Given the description of an element on the screen output the (x, y) to click on. 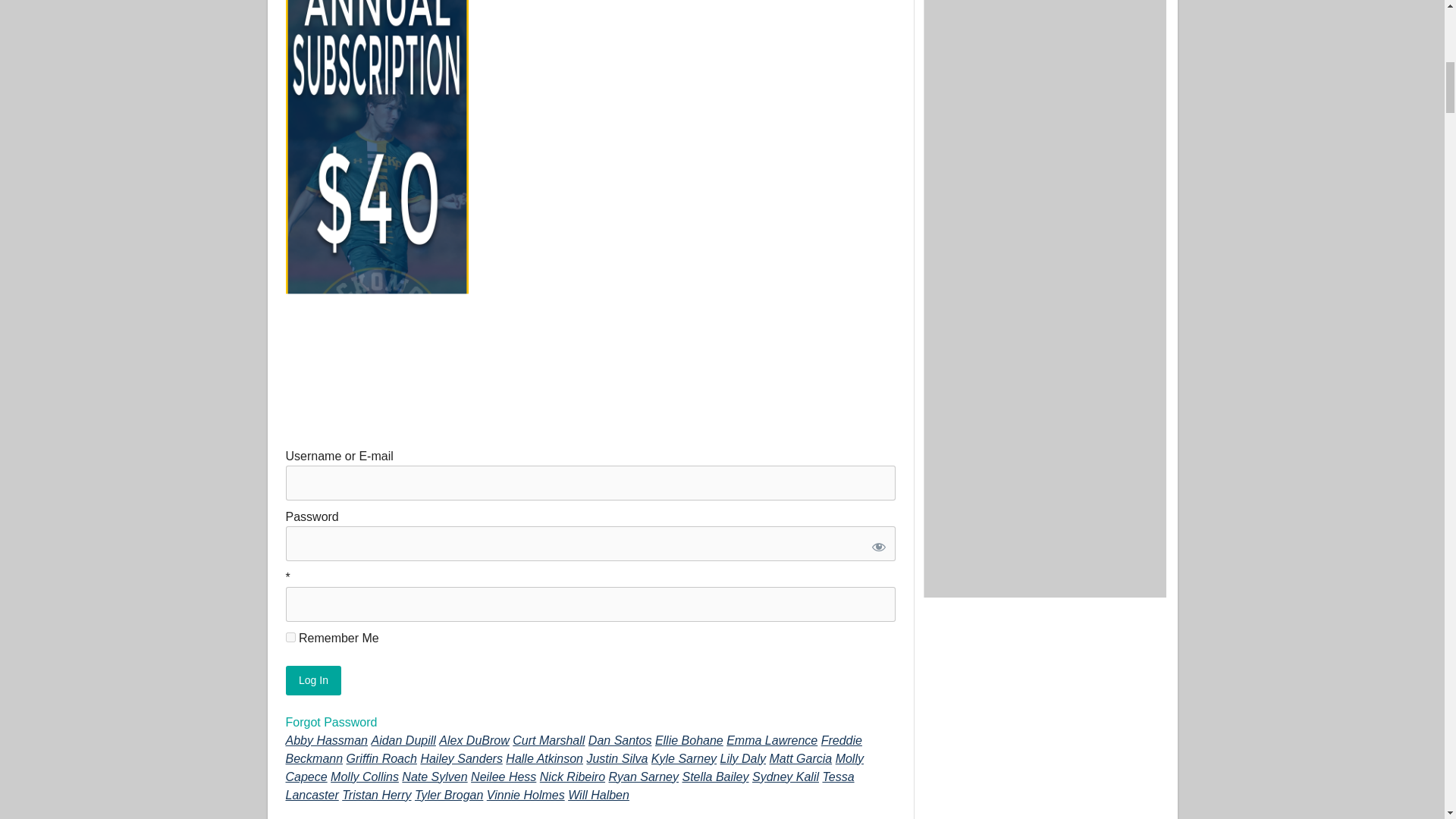
Log In (312, 680)
Aidan Dupill (403, 739)
Curt Marshall (548, 739)
Alex DuBrow (473, 739)
Abby Hassman (326, 739)
Forgot Password (331, 721)
forever (290, 637)
Log In (312, 680)
Dan Santos (620, 739)
Ellie Bohane (689, 739)
